Given the description of an element on the screen output the (x, y) to click on. 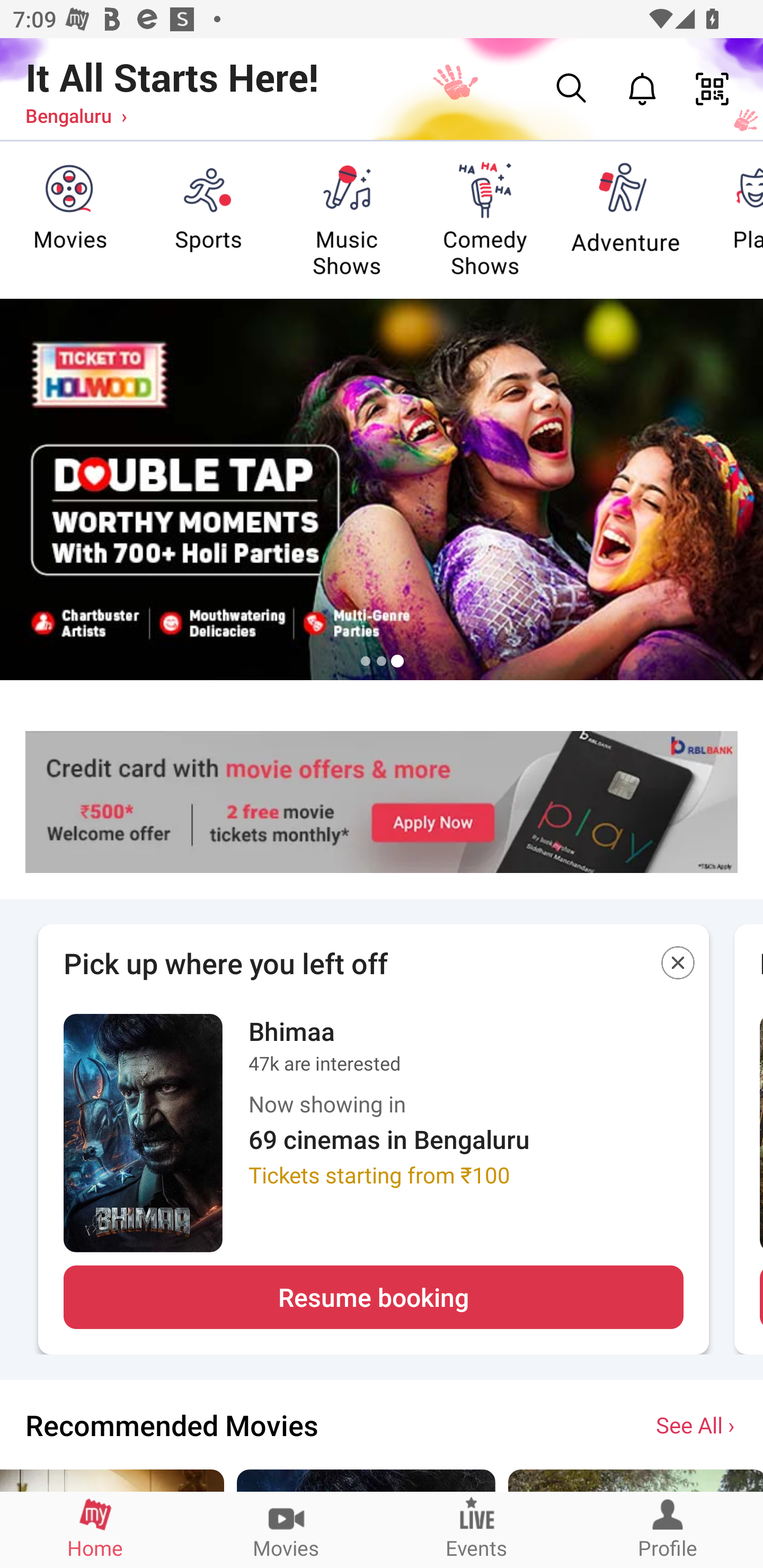
Bengaluru  › (76, 114)
  (678, 966)
Resume booking (373, 1297)
See All › (696, 1424)
Home (95, 1529)
Movies (285, 1529)
Events (476, 1529)
Profile (667, 1529)
